Given the description of an element on the screen output the (x, y) to click on. 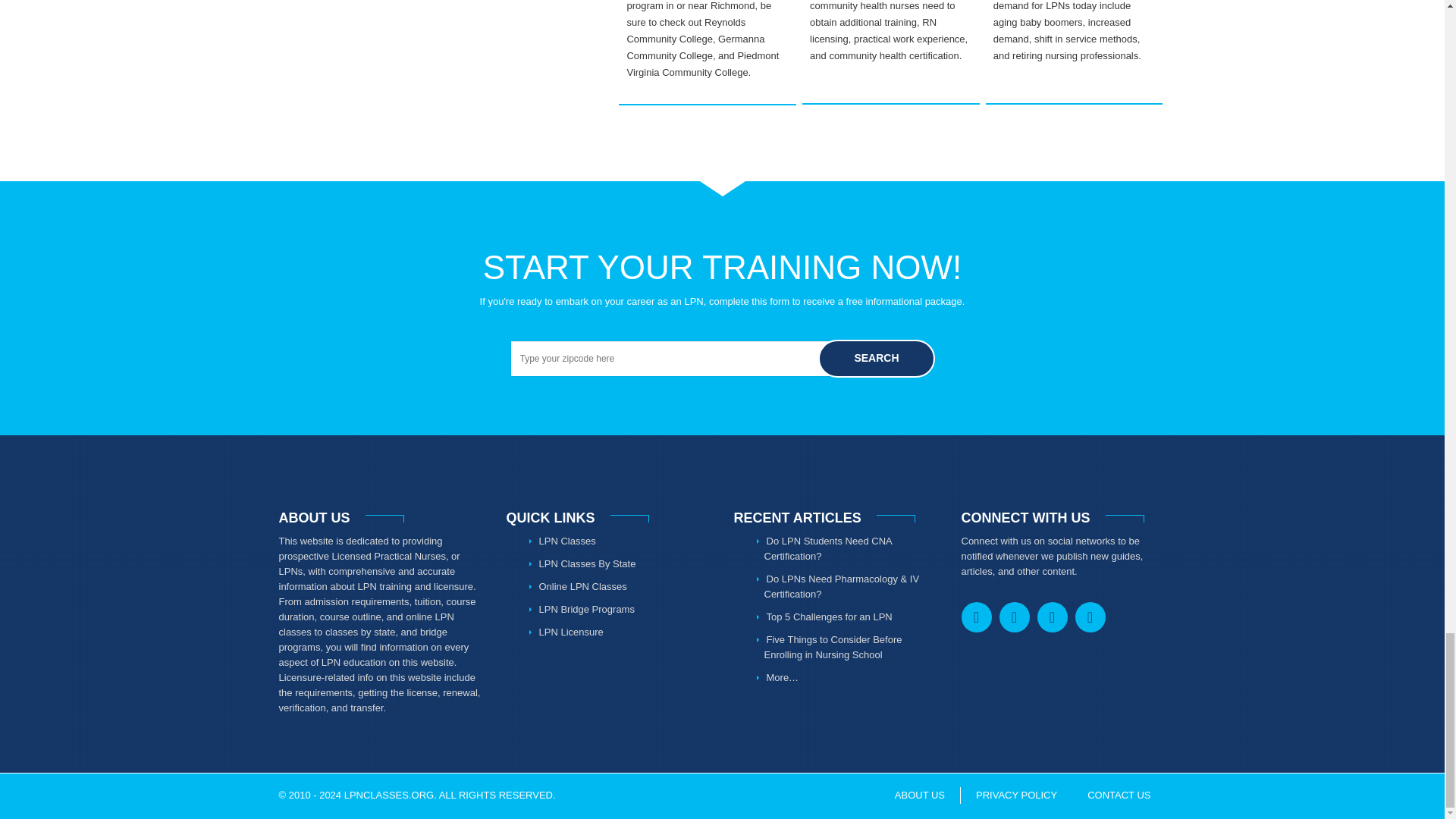
Facebook (975, 616)
RSS (1090, 616)
Pinterest (1051, 616)
Twitter (1013, 616)
